Given the description of an element on the screen output the (x, y) to click on. 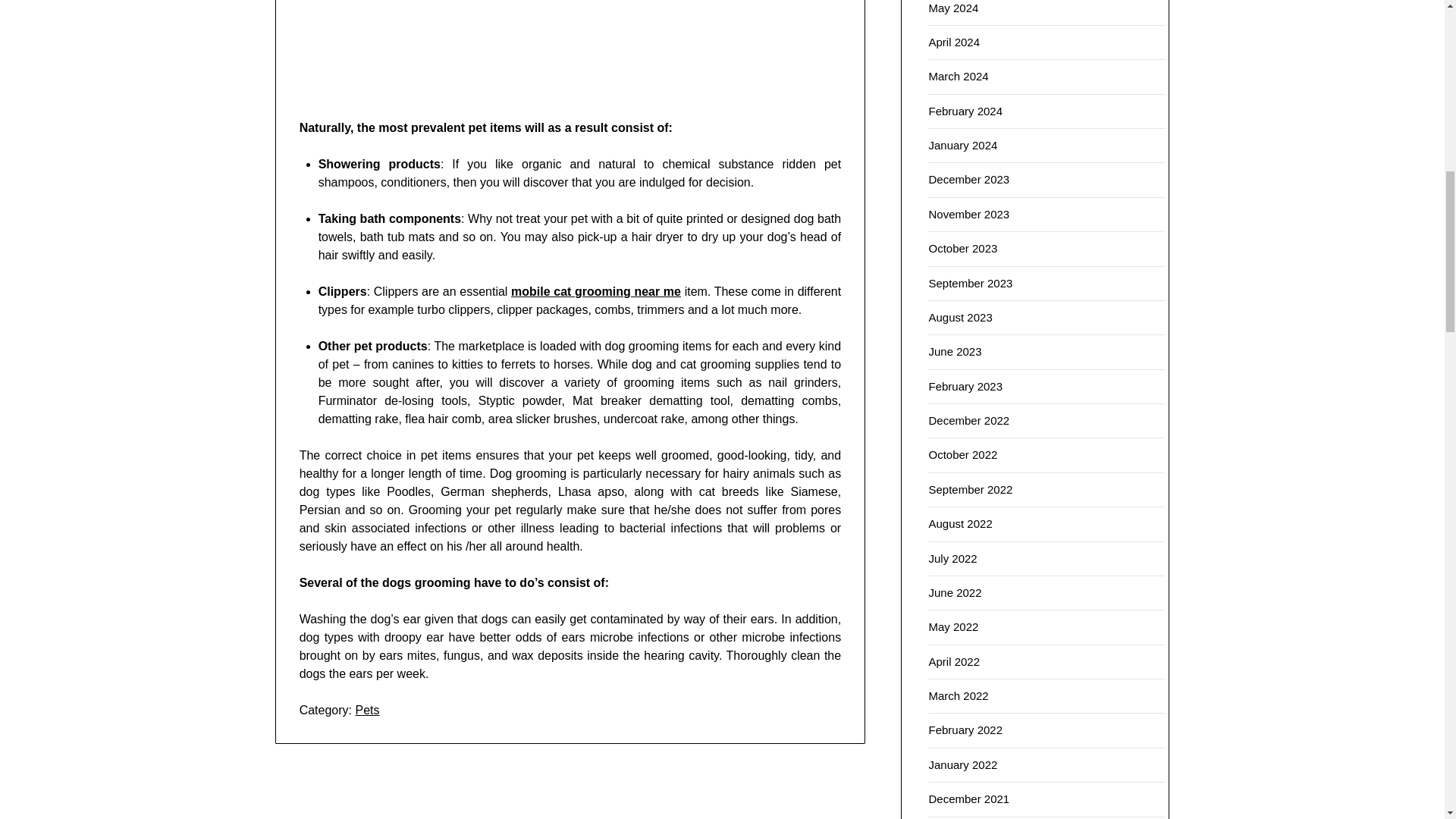
February 2024 (965, 110)
Pets (366, 709)
January 2024 (962, 144)
mobile cat grooming near me (596, 291)
April 2024 (953, 42)
December 2022 (968, 420)
August 2022 (959, 522)
February 2023 (965, 386)
September 2023 (969, 282)
May 2022 (953, 626)
May 2024 (953, 7)
March 2024 (958, 75)
October 2023 (962, 247)
June 2023 (954, 350)
December 2023 (968, 178)
